Given the description of an element on the screen output the (x, y) to click on. 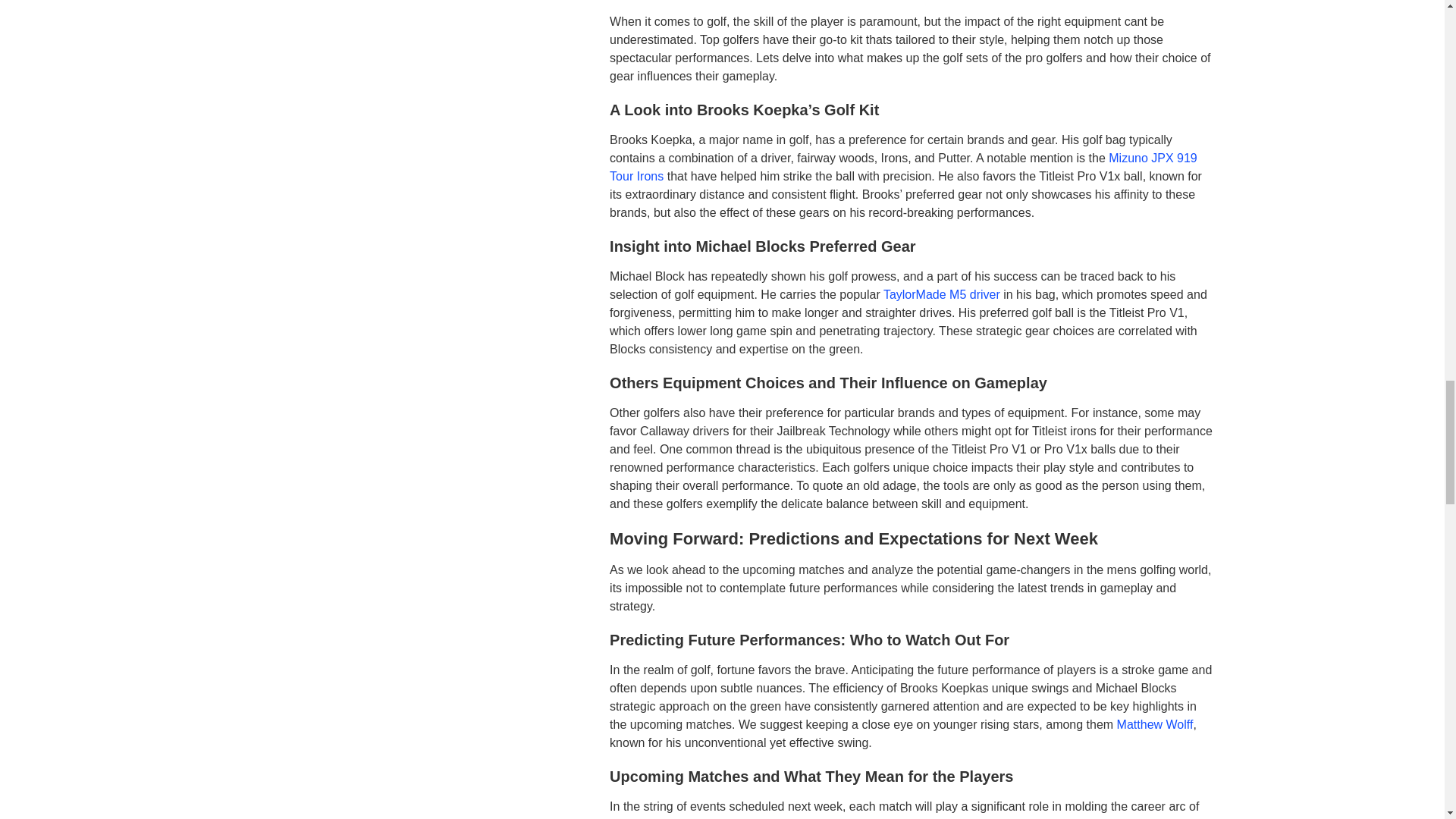
TaylorMade M5 driver (941, 294)
The Masters (890, 818)
Mizuno JPX 919 Tour Irons (903, 166)
Matthew Wolff (1154, 724)
